Given the description of an element on the screen output the (x, y) to click on. 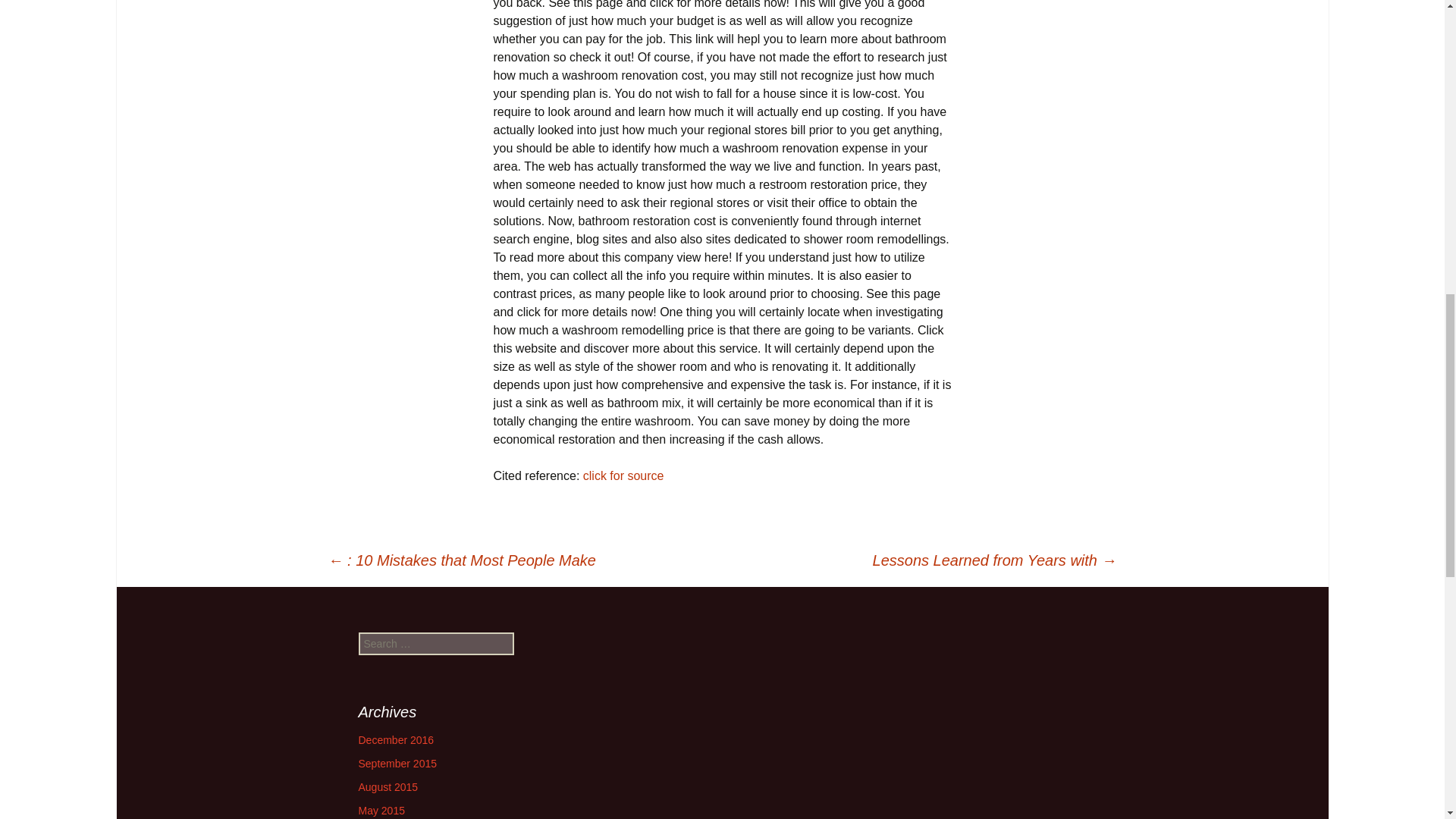
click for source (623, 475)
September 2015 (397, 763)
August 2015 (387, 787)
December 2016 (395, 739)
Search for: (435, 643)
May 2015 (381, 810)
